Given the description of an element on the screen output the (x, y) to click on. 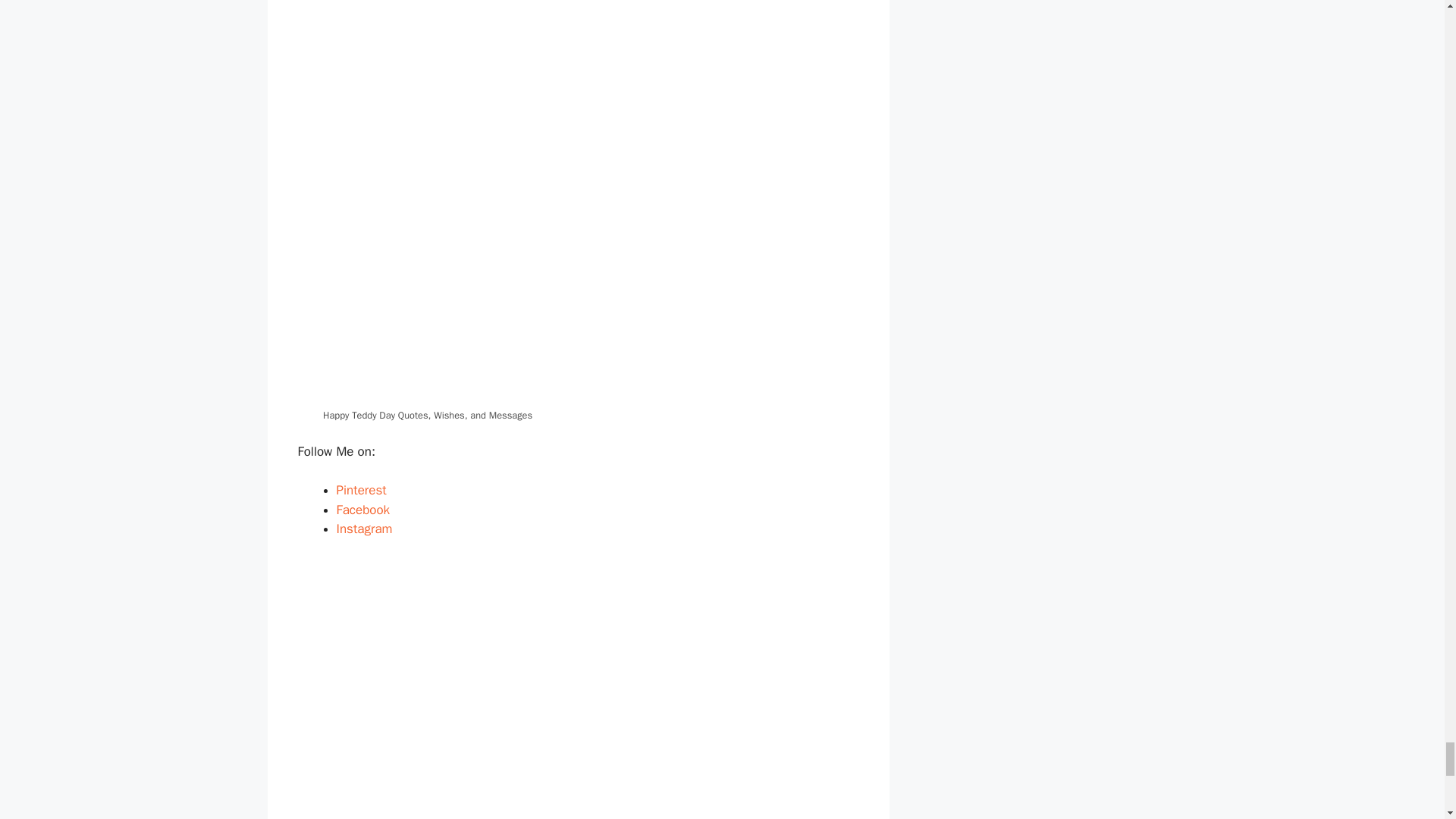
Instagram (364, 528)
Facebook (363, 509)
Pinterest (361, 489)
